Given the description of an element on the screen output the (x, y) to click on. 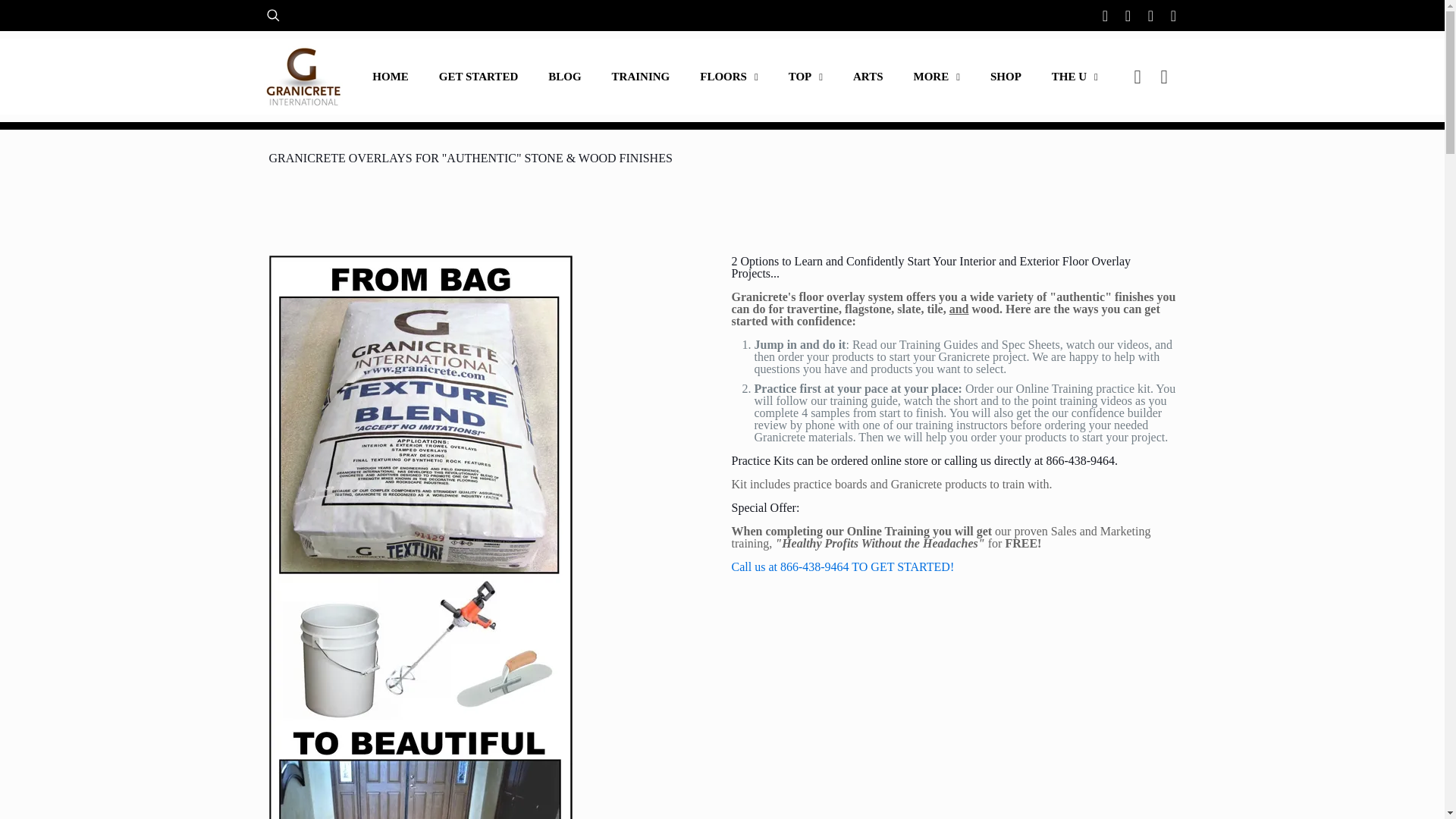
HOME (389, 76)
ARTS (868, 76)
THE U (1074, 76)
FLOORS (728, 76)
BLOG (563, 76)
SHOP (1005, 76)
TOP (805, 76)
GET STARTED (477, 76)
TRAINING (640, 76)
MORE (936, 76)
